Given the description of an element on the screen output the (x, y) to click on. 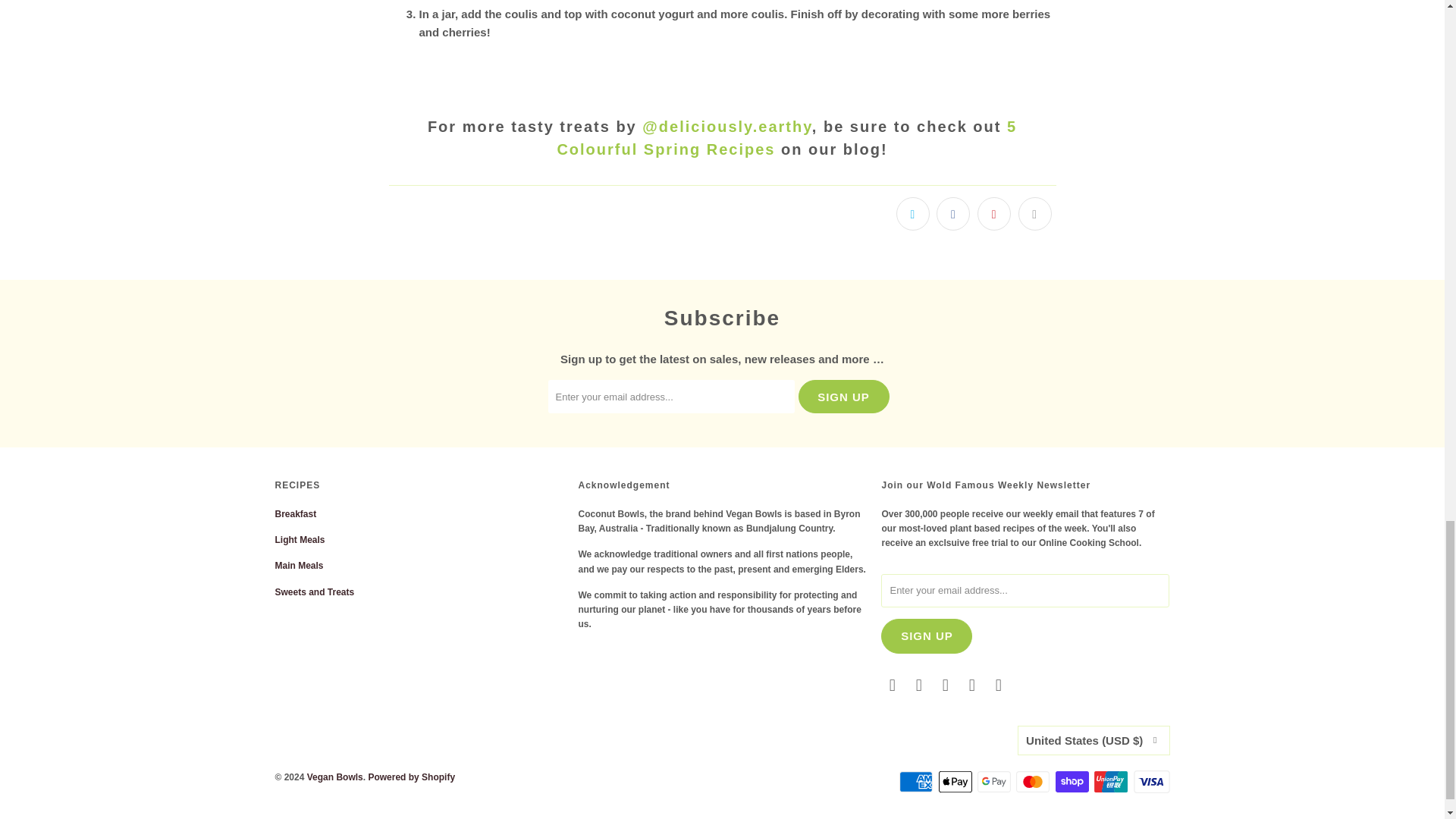
Share this on Twitter (913, 213)
Google Pay (994, 781)
Union Pay (1112, 781)
Mastercard (1034, 781)
American Express (917, 781)
Shop Pay (1073, 781)
Share this on Pinterest (993, 213)
Sign Up (926, 636)
Share this on Facebook (952, 213)
Sign Up (842, 396)
